Given the description of an element on the screen output the (x, y) to click on. 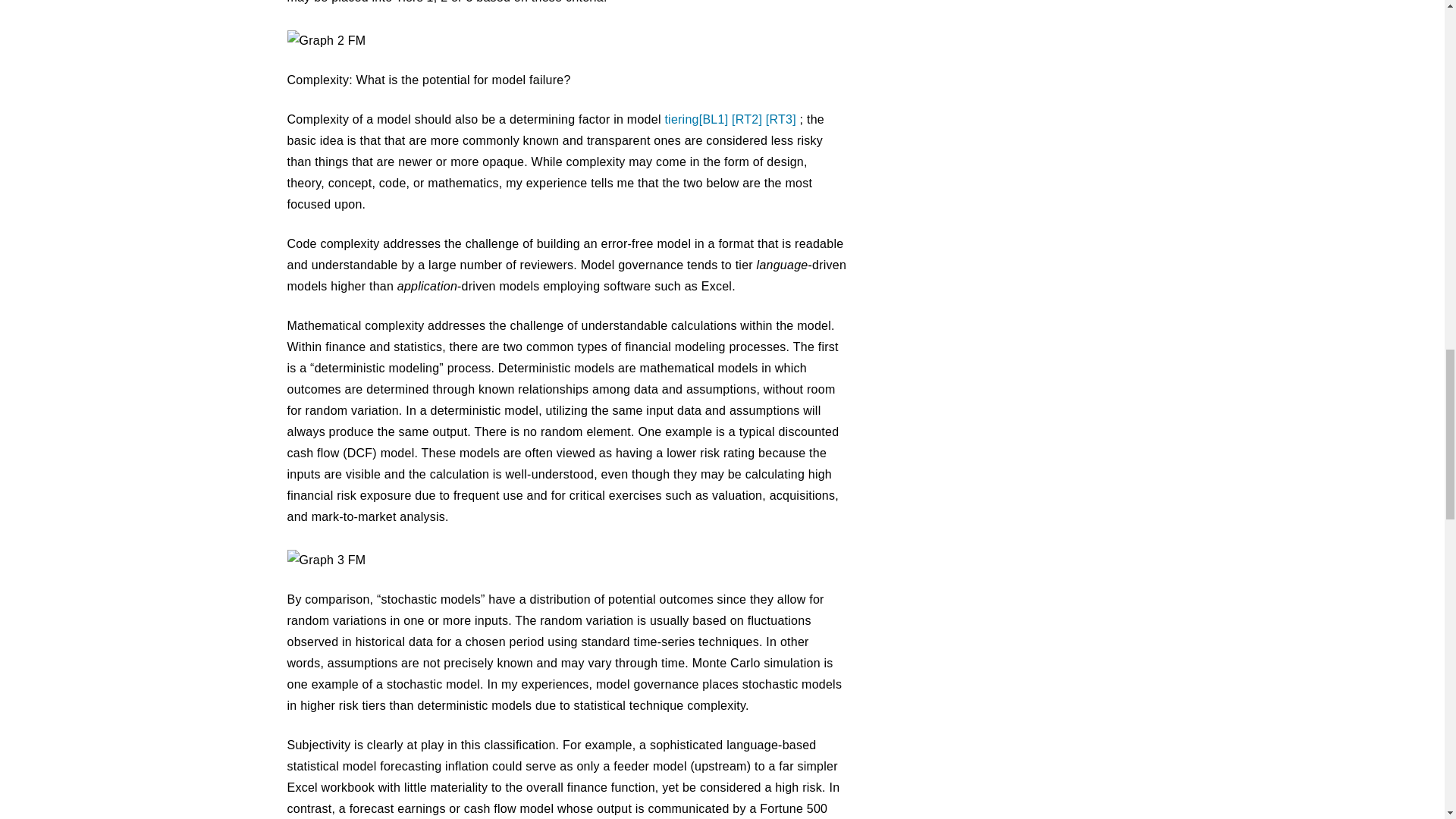
Graph 2 FM (325, 40)
Graph 3 FM (325, 559)
